Given the description of an element on the screen output the (x, y) to click on. 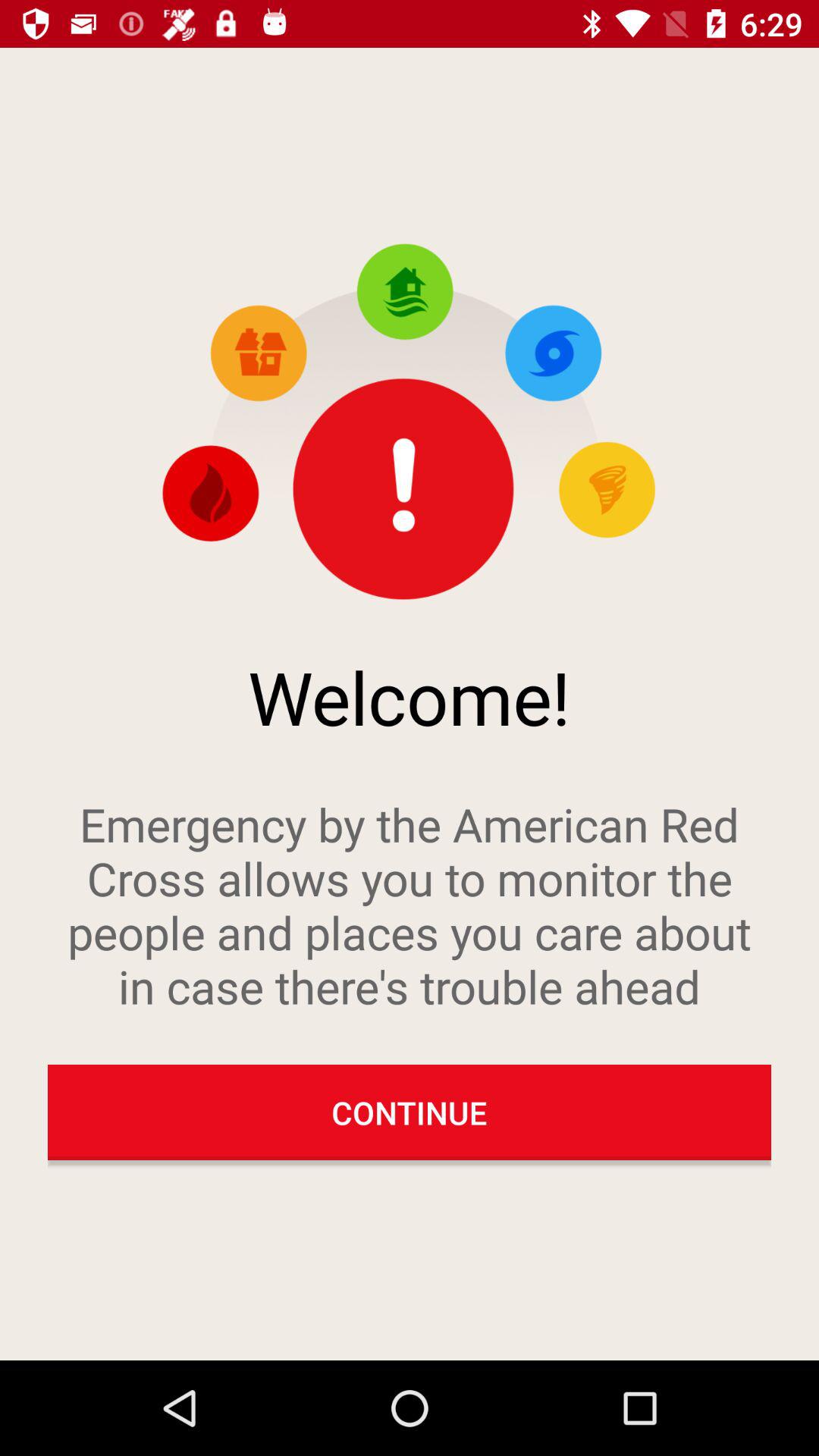
select the continue (409, 1112)
